Given the description of an element on the screen output the (x, y) to click on. 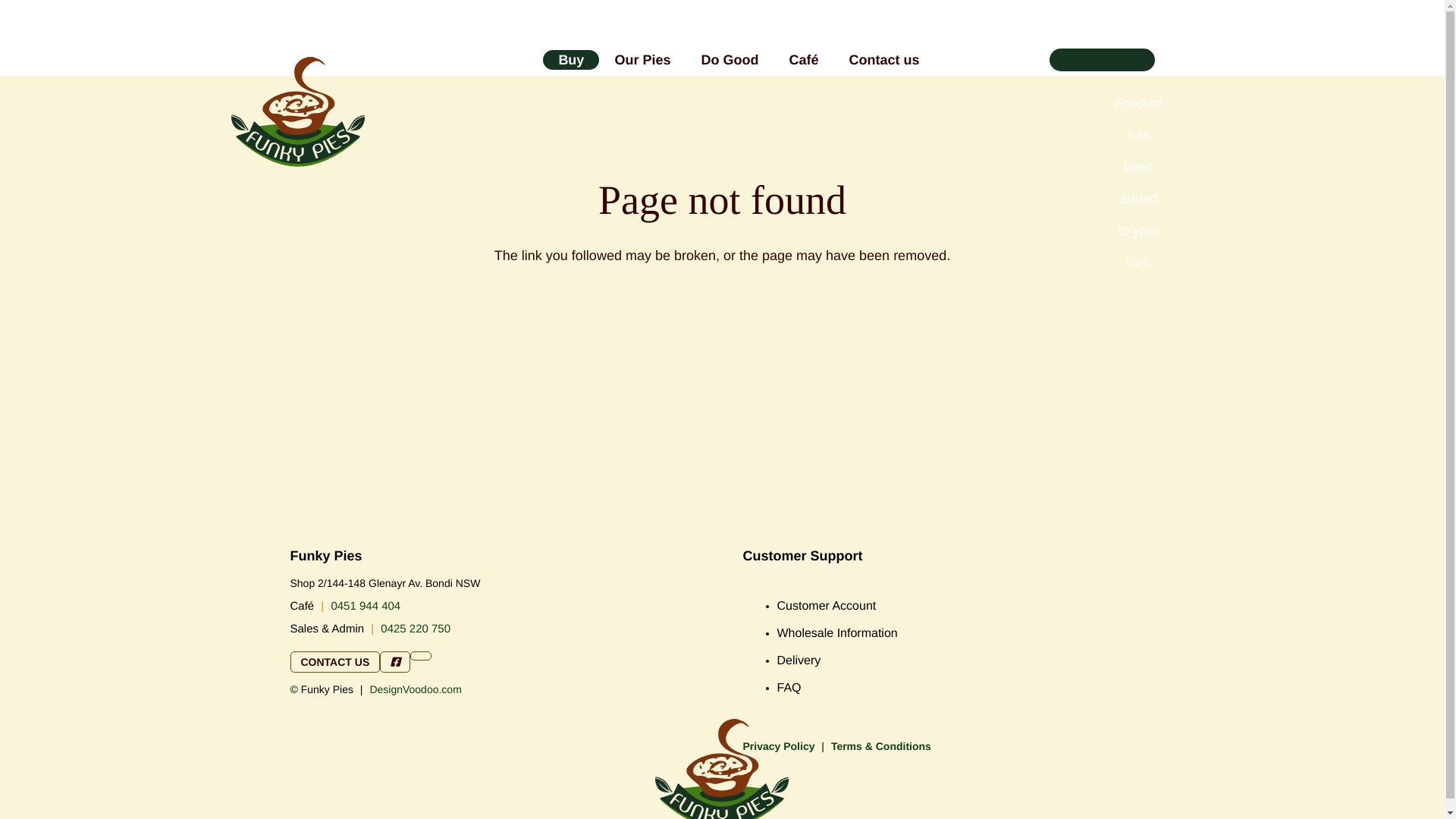
Our Pies Element type: text (642, 59)
Privacy Policy Element type: text (779, 746)
FAQ Element type: text (788, 687)
Wholesale Information Element type: text (836, 633)
0451 944 404 Element type: text (365, 605)
0425 220 750 Element type: text (415, 628)
Contact us Element type: text (883, 59)
Funky Pies Element type: hover (297, 87)
CONTACT US Element type: text (334, 661)
Buy Element type: text (570, 59)
Customer Account Element type: text (825, 605)
Funky Pies on Facebook Element type: hover (394, 661)
DesignVoodoo.com Element type: text (415, 689)
Terms & Conditions Element type: text (881, 746)
Funky Pies on Instagram Element type: hover (420, 655)
Delivery Element type: text (798, 660)
Do Good Element type: text (729, 59)
Go Element type: text (1045, 94)
